Given the description of an element on the screen output the (x, y) to click on. 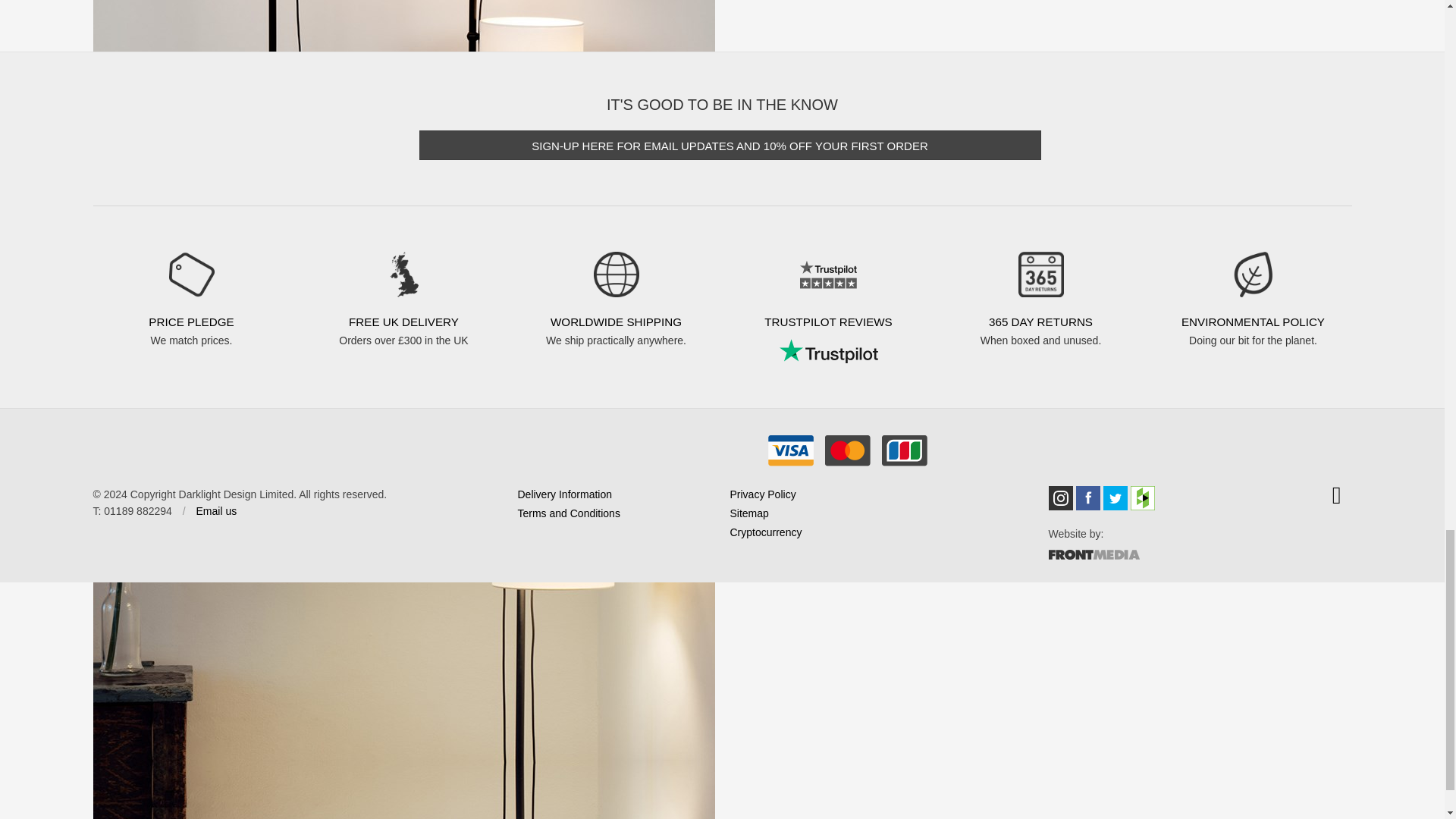
Customer reviews powered by Trustpilot (827, 351)
